Given the description of an element on the screen output the (x, y) to click on. 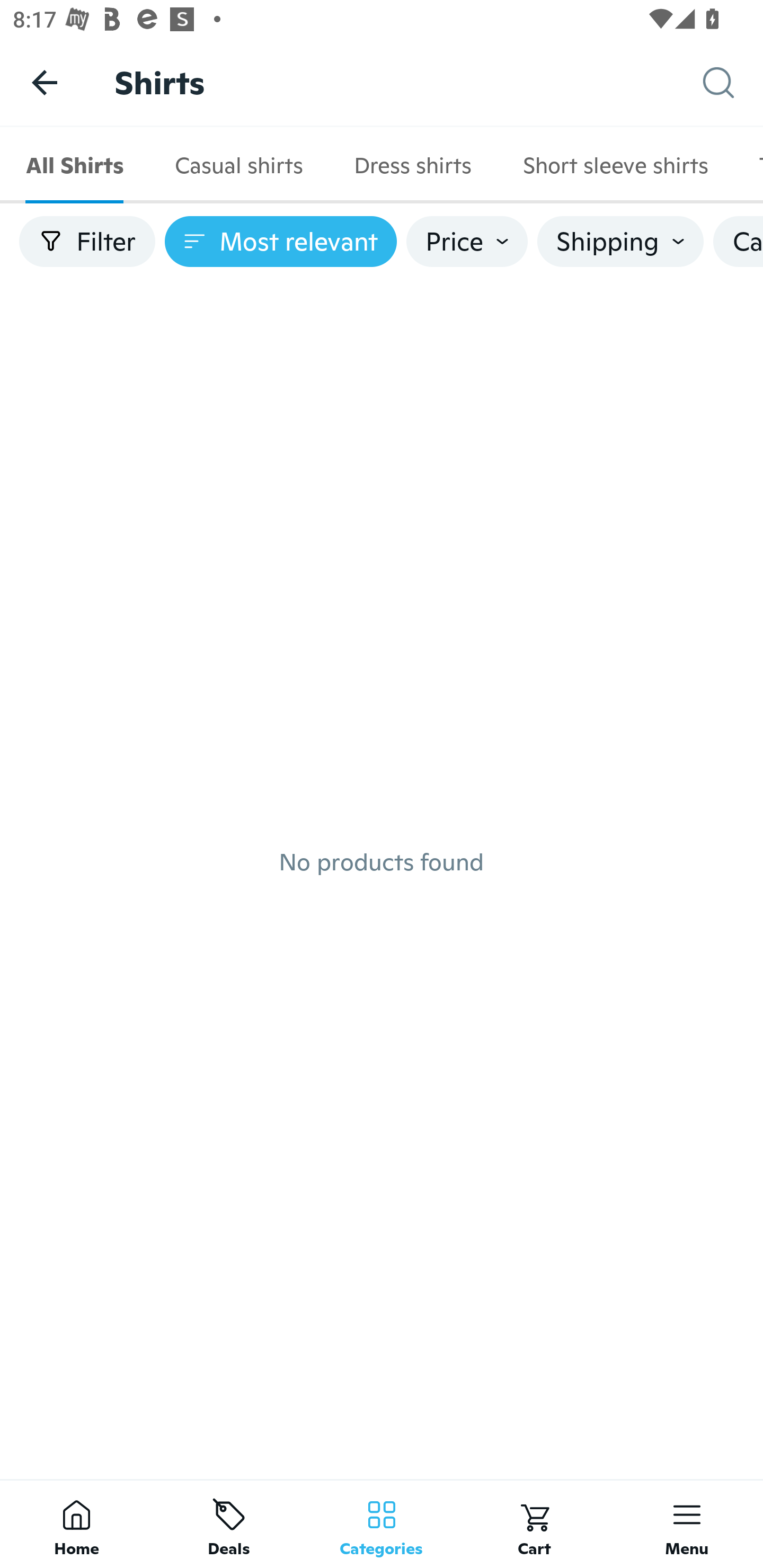
Navigate up (44, 82)
Search (732, 82)
All Shirts (74, 165)
Casual shirts (238, 165)
Dress shirts (412, 165)
Short sleeve shirts (614, 165)
Filter (86, 241)
Most relevant (280, 241)
Price (466, 241)
Shipping (620, 241)
Home (76, 1523)
Deals (228, 1523)
Categories (381, 1523)
Cart (533, 1523)
Menu (686, 1523)
